Given the description of an element on the screen output the (x, y) to click on. 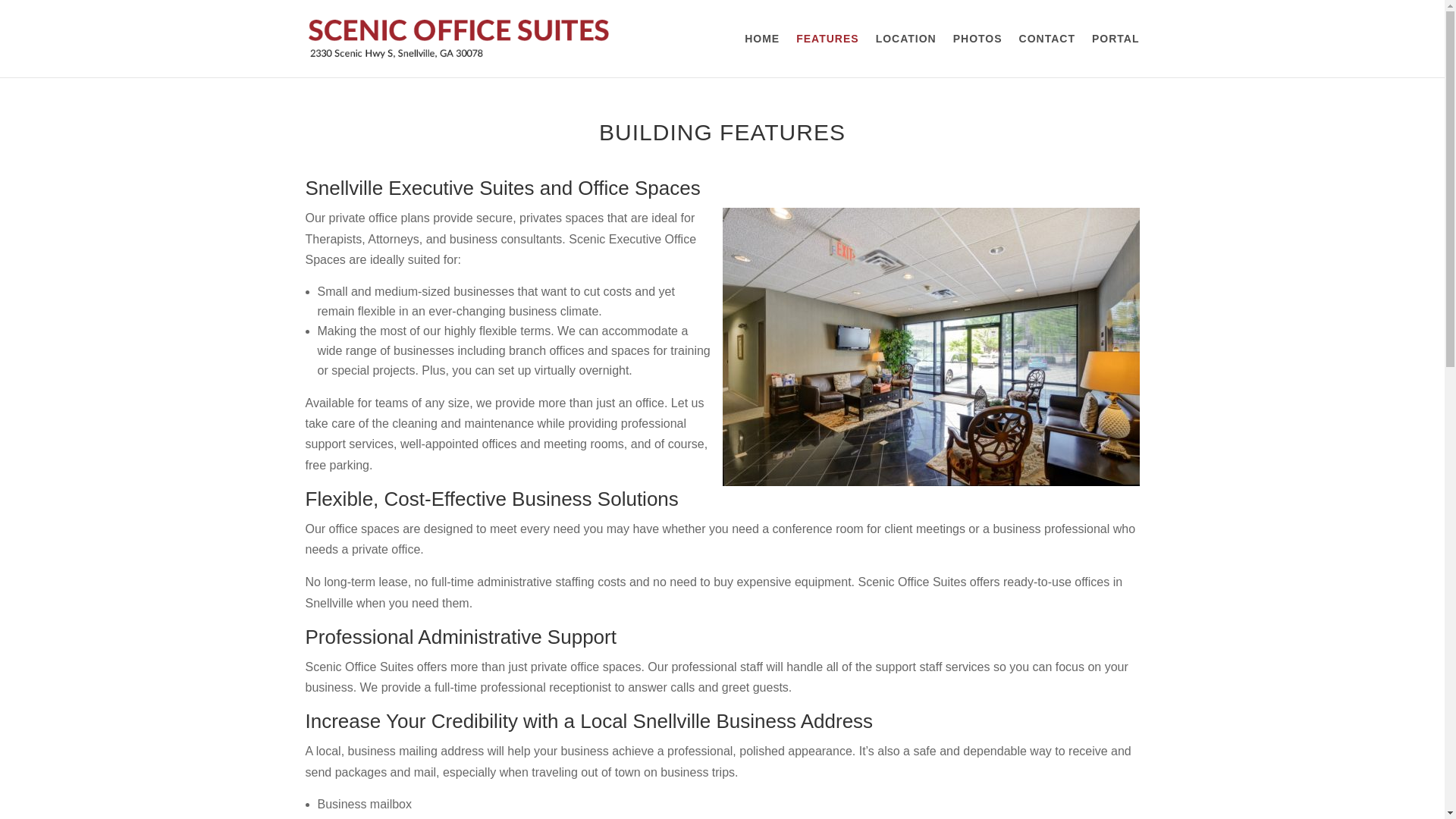
PORTAL (1116, 54)
FEATURES (827, 54)
LOCATION (906, 54)
CONTACT (1047, 54)
PHOTOS (978, 54)
